Given the description of an element on the screen output the (x, y) to click on. 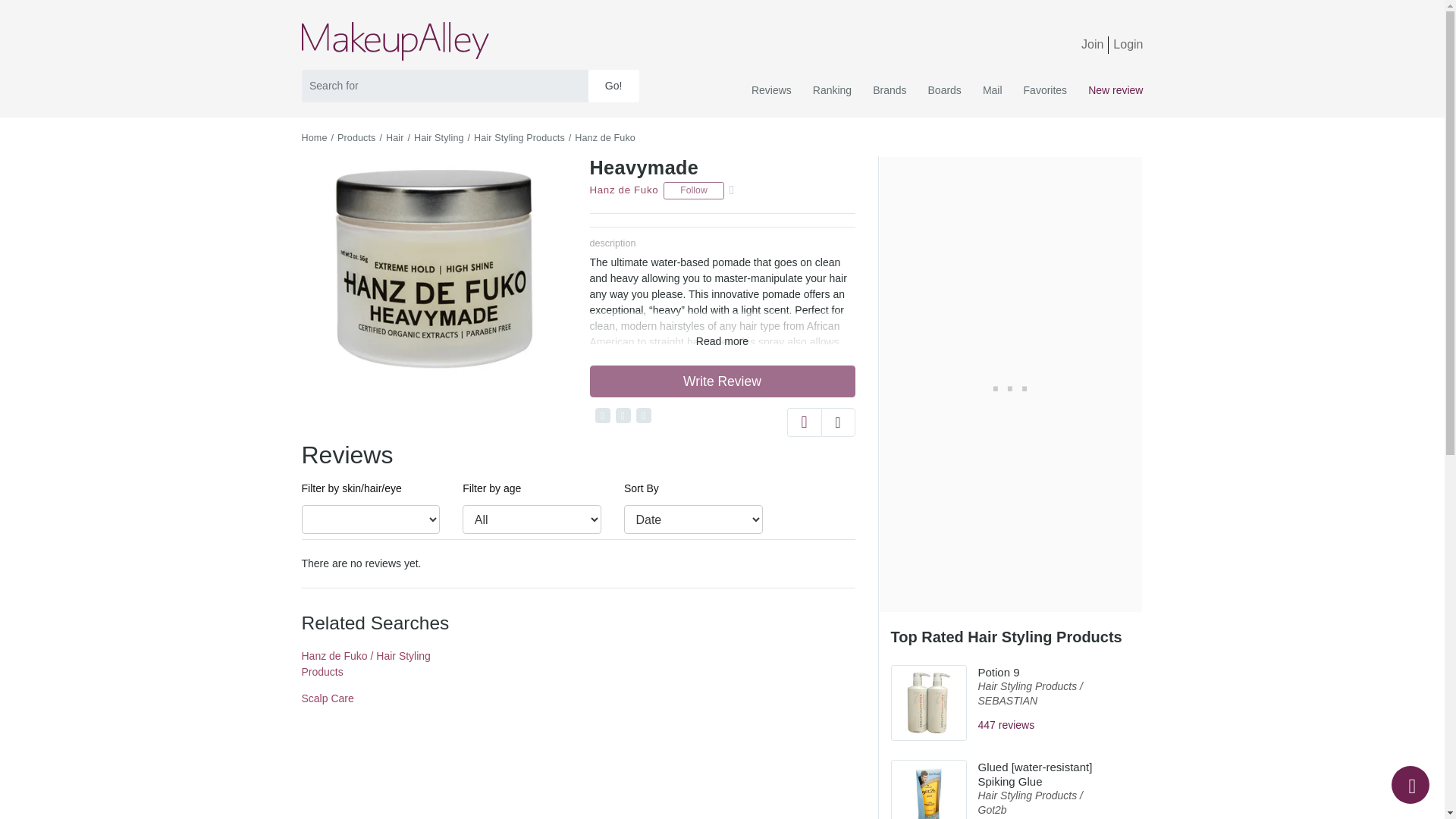
Join (1092, 43)
Follow (693, 190)
Hair Styling Products (1027, 795)
Potion 9 (1045, 725)
Potion 9 (999, 672)
Mail (992, 90)
Favorites (1045, 90)
Read more (721, 340)
Hair Styling (438, 137)
Home (314, 137)
Hair (394, 137)
Heavymade (643, 167)
Hanz de Fuko (604, 137)
New review (1109, 90)
Boards (944, 90)
